Given the description of an element on the screen output the (x, y) to click on. 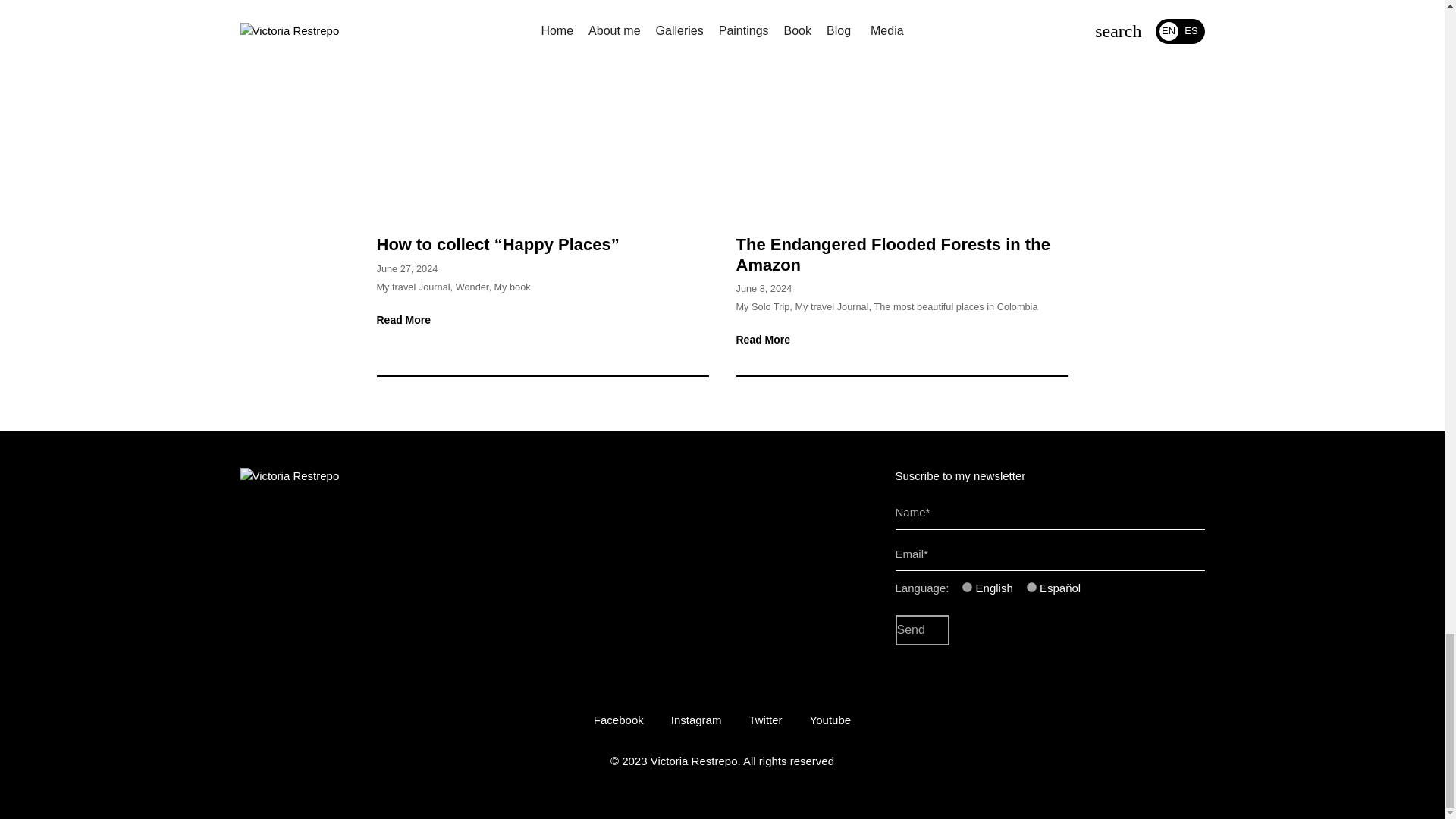
My travel Journal (412, 286)
The Endangered Flooded Forests in the Amazon (892, 254)
The most beautiful places in Colombia (954, 306)
English (967, 587)
My Solo Trip (762, 306)
Send (922, 630)
Wonder, My book (493, 286)
Read More (408, 319)
The Endangered Flooded Forests in the Amazon (901, 109)
The Endangered Flooded Forests in the Amazon (892, 254)
My travel Journal (830, 306)
